Given the description of an element on the screen output the (x, y) to click on. 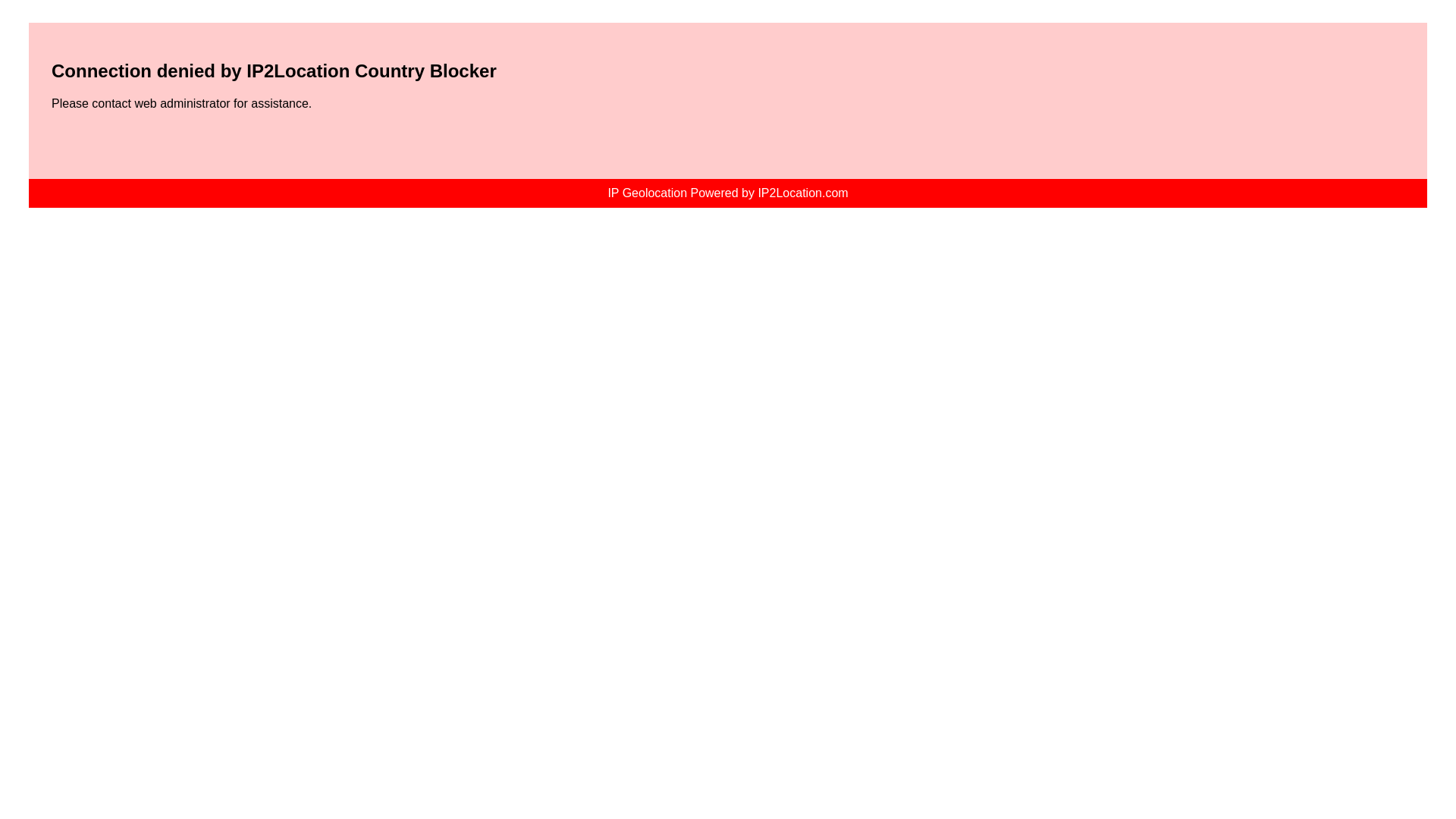
IP Geolocation Powered by IP2Location.com Element type: text (727, 192)
